Given the description of an element on the screen output the (x, y) to click on. 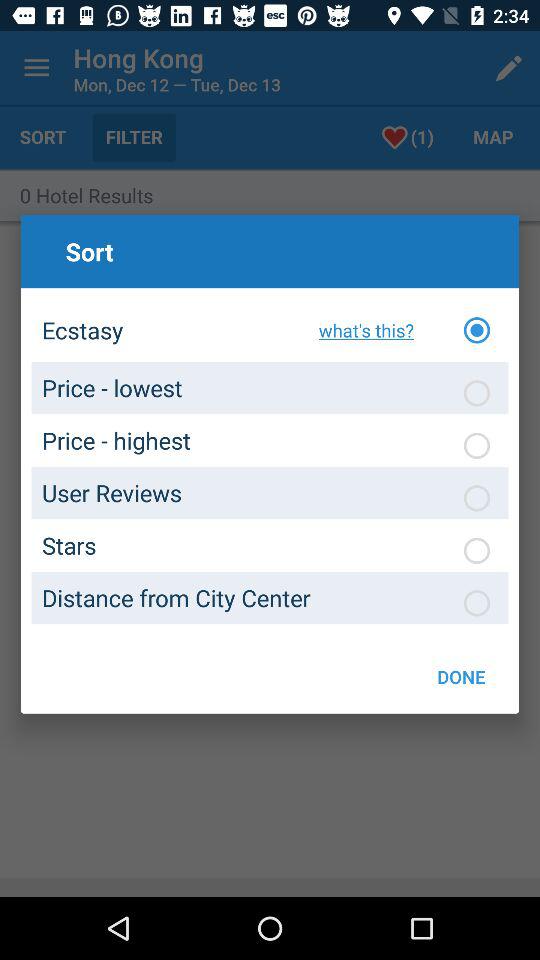
choose bubble under sort (477, 445)
